Given the description of an element on the screen output the (x, y) to click on. 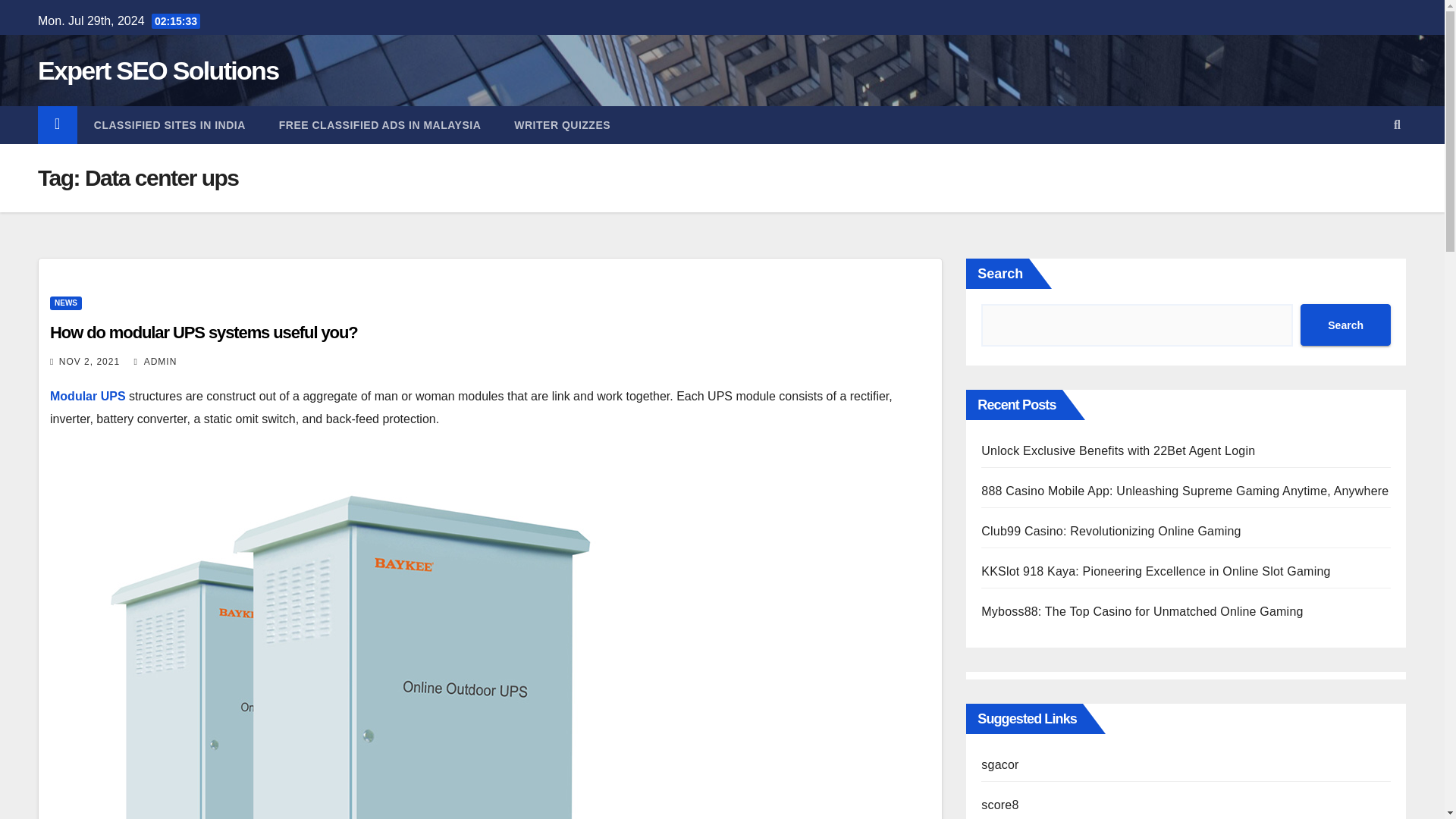
KKSlot 918 Kaya: Pioneering Excellence in Online Slot Gaming (1155, 571)
Unlock Exclusive Benefits with 22Bet Agent Login (1118, 450)
Expert SEO Solutions (157, 70)
Classified Sites in India (169, 125)
score8 (999, 804)
How do modular UPS systems useful you? (203, 332)
CLASSIFIED SITES IN INDIA (169, 125)
sgacor (999, 764)
Club99 Casino: Revolutionizing Online Gaming (1110, 530)
Search (1345, 324)
Free Classified Ads in Malaysia (379, 125)
Myboss88: The Top Casino for Unmatched Online Gaming (1142, 611)
FREE CLASSIFIED ADS IN MALAYSIA (379, 125)
ADMIN (155, 361)
